Given the description of an element on the screen output the (x, y) to click on. 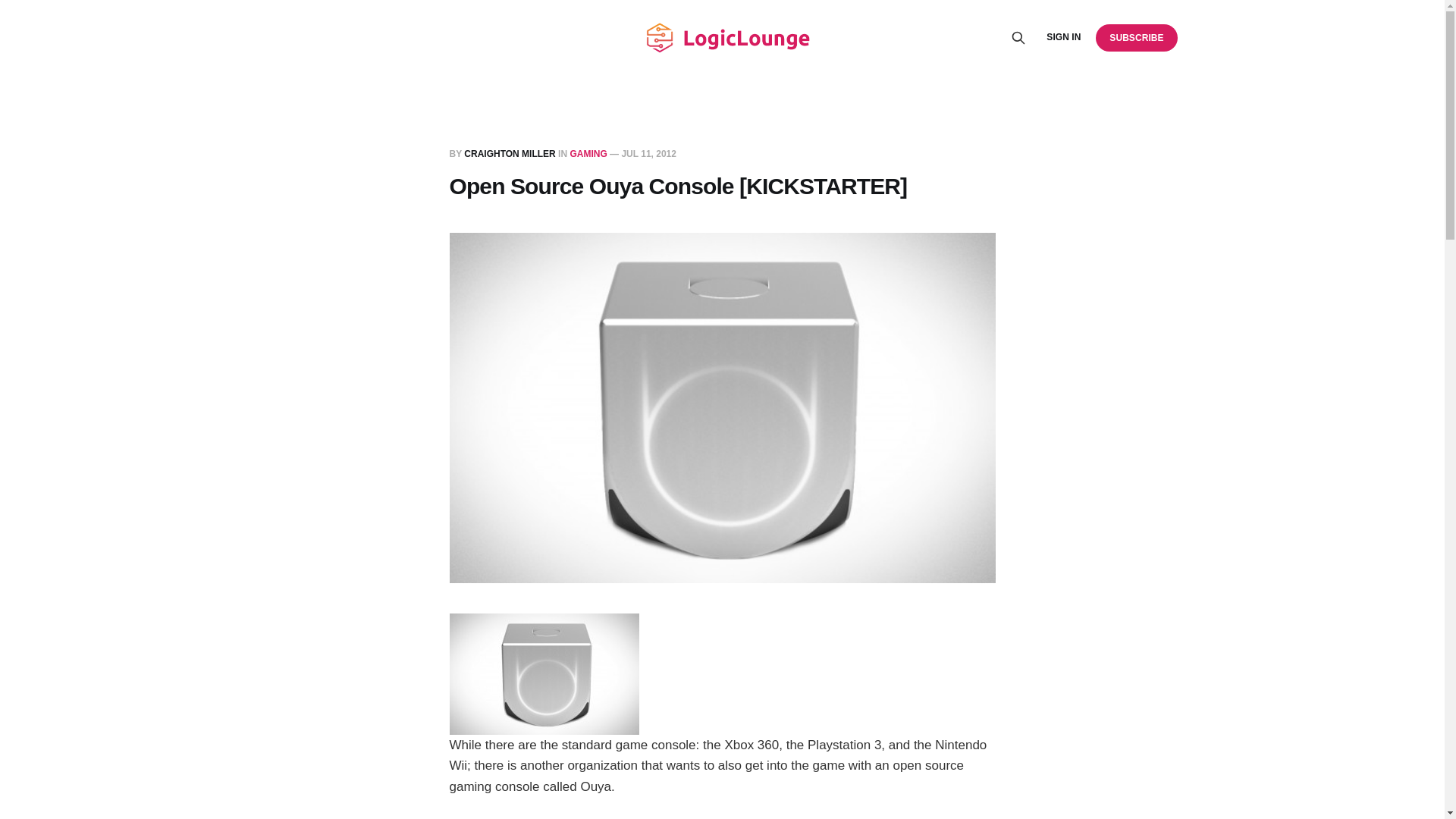
CRAIGHTON MILLER (509, 153)
GAMING (588, 153)
SIGN IN (1063, 37)
SUBSCRIBE (1136, 37)
